Given the description of an element on the screen output the (x, y) to click on. 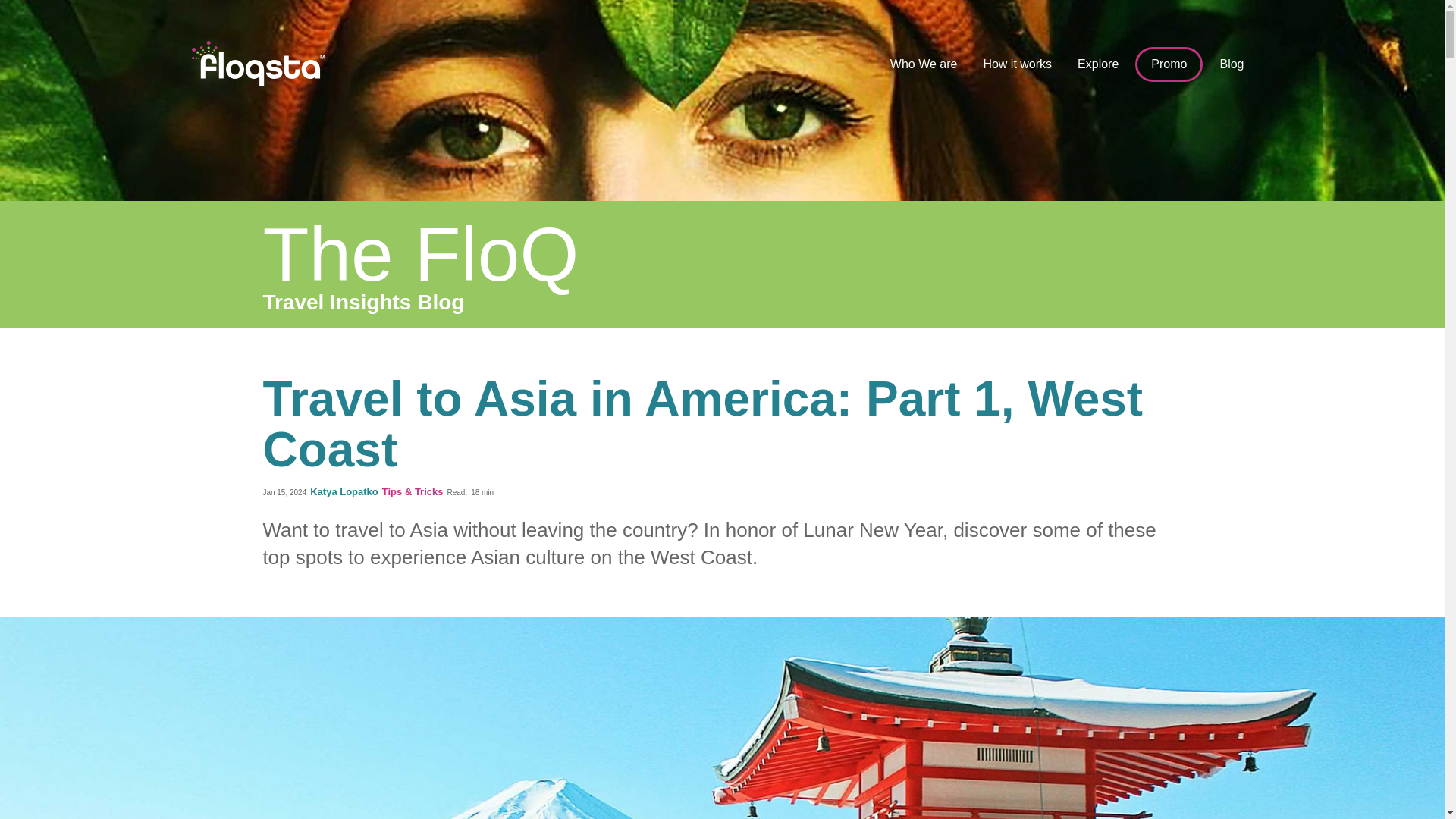
Blog (1230, 64)
Who We are (923, 64)
Explore (1097, 64)
Promo (1168, 63)
Katya Lopatko (345, 491)
How it works (1017, 64)
